Given the description of an element on the screen output the (x, y) to click on. 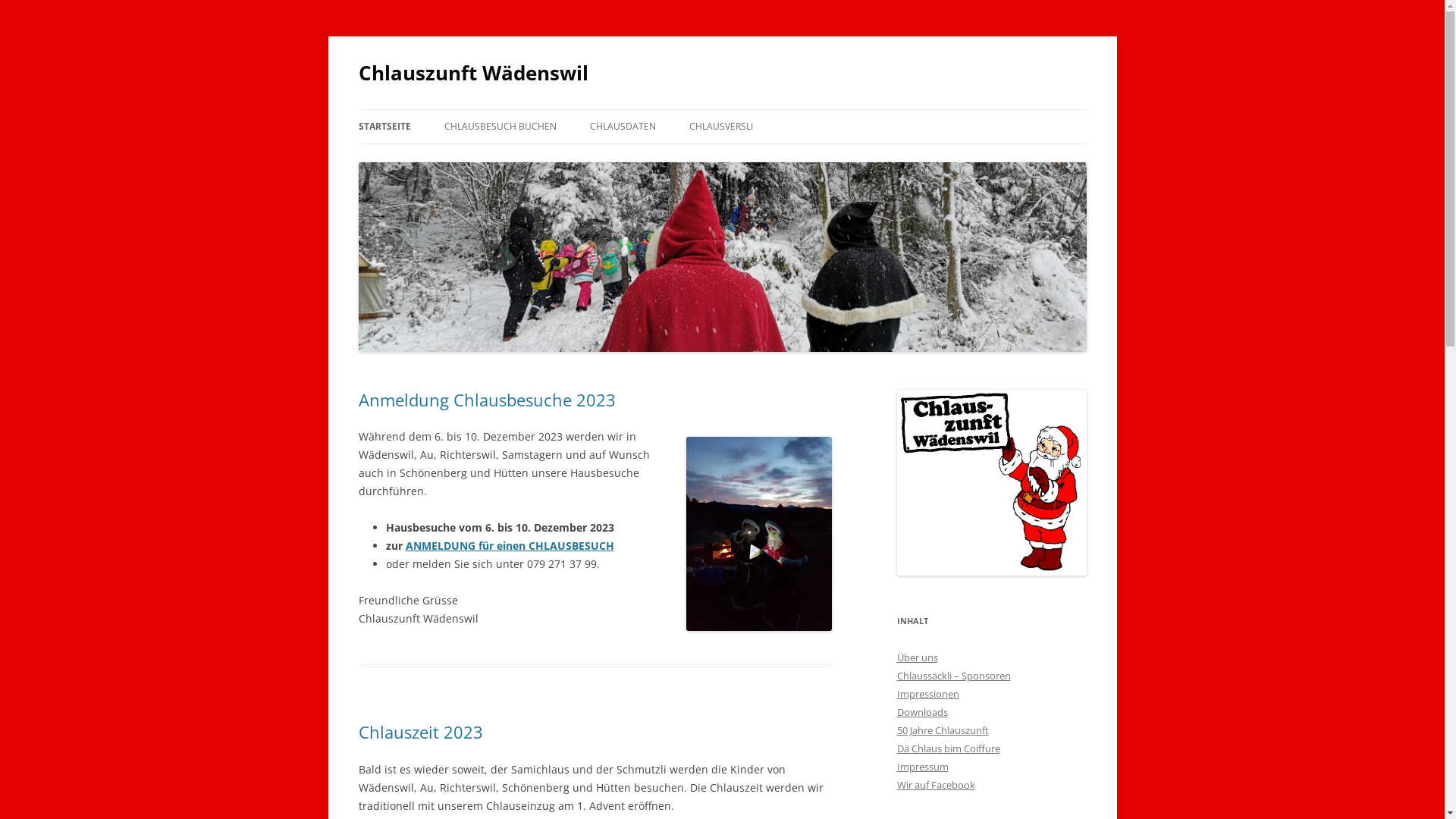
Zum Inhalt springen Element type: text (721, 109)
Impressum Element type: text (921, 766)
CHLAUSVERSLI Element type: text (720, 126)
CHLAUSBESUCH BUCHEN Element type: text (500, 126)
Impressionen Element type: text (927, 693)
Anmeldung Chlausbesuche 2023 Element type: text (486, 399)
Wir auf Facebook Element type: text (935, 784)
STARTSEITE Element type: text (383, 126)
CHLAUSDATEN Element type: text (622, 126)
Downloads Element type: text (921, 711)
50 Jahre Chlauszunft Element type: text (942, 730)
Chlauszeit 2023 Element type: text (419, 731)
